Given the description of an element on the screen output the (x, y) to click on. 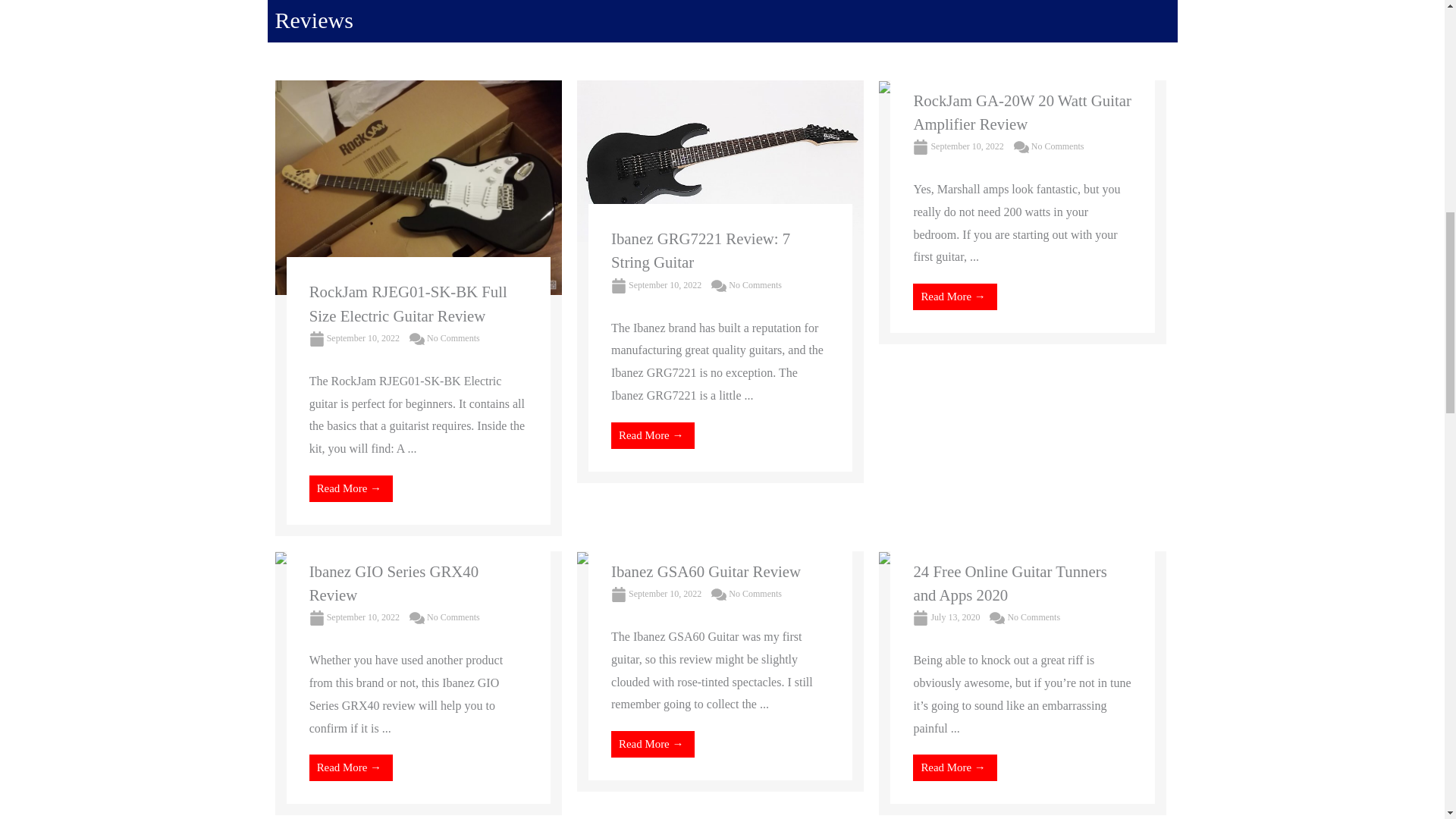
24 Free Online Guitar Tunners and Apps 2020 (1009, 582)
Ibanez GSA60 Guitar Review (705, 570)
RockJam GA-20W 20 Watt Guitar Amplifier Review (1021, 111)
24 Free Online Guitar Tunners and Apps 2020 (980, 562)
Ibanez GSA60 Guitar Review (654, 562)
Ibanez GIO Series GRX40 Review (345, 562)
Ibanez GRG7221 Review: 7 String Guitar (719, 159)
Ibanez GRG7221 Review: 7 String Guitar (700, 250)
RockJam RJEG01-SK-BK Full Size Electric Guitar Review (407, 302)
RockJam GA-20W 20 Watt Guitar Amplifier Review (932, 91)
